Given the description of an element on the screen output the (x, y) to click on. 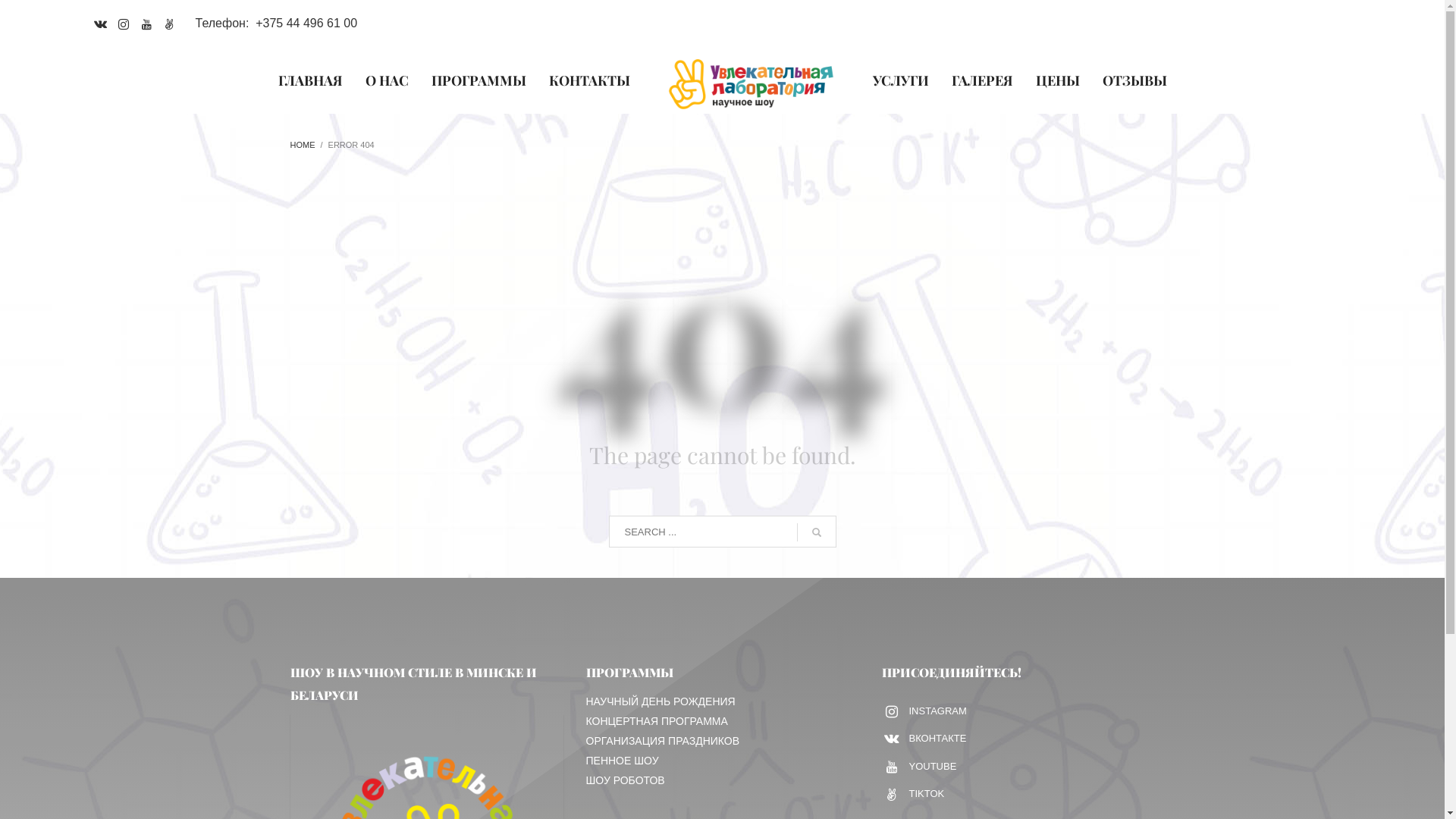
Youtube Element type: hover (145, 23)
Instagram Element type: hover (123, 23)
INSTAGRAM Element type: text (925, 710)
YOUTUBE Element type: text (925, 766)
go Element type: text (815, 532)
HOME Element type: text (301, 144)
TIKTOK Element type: text (925, 794)
